Given the description of an element on the screen output the (x, y) to click on. 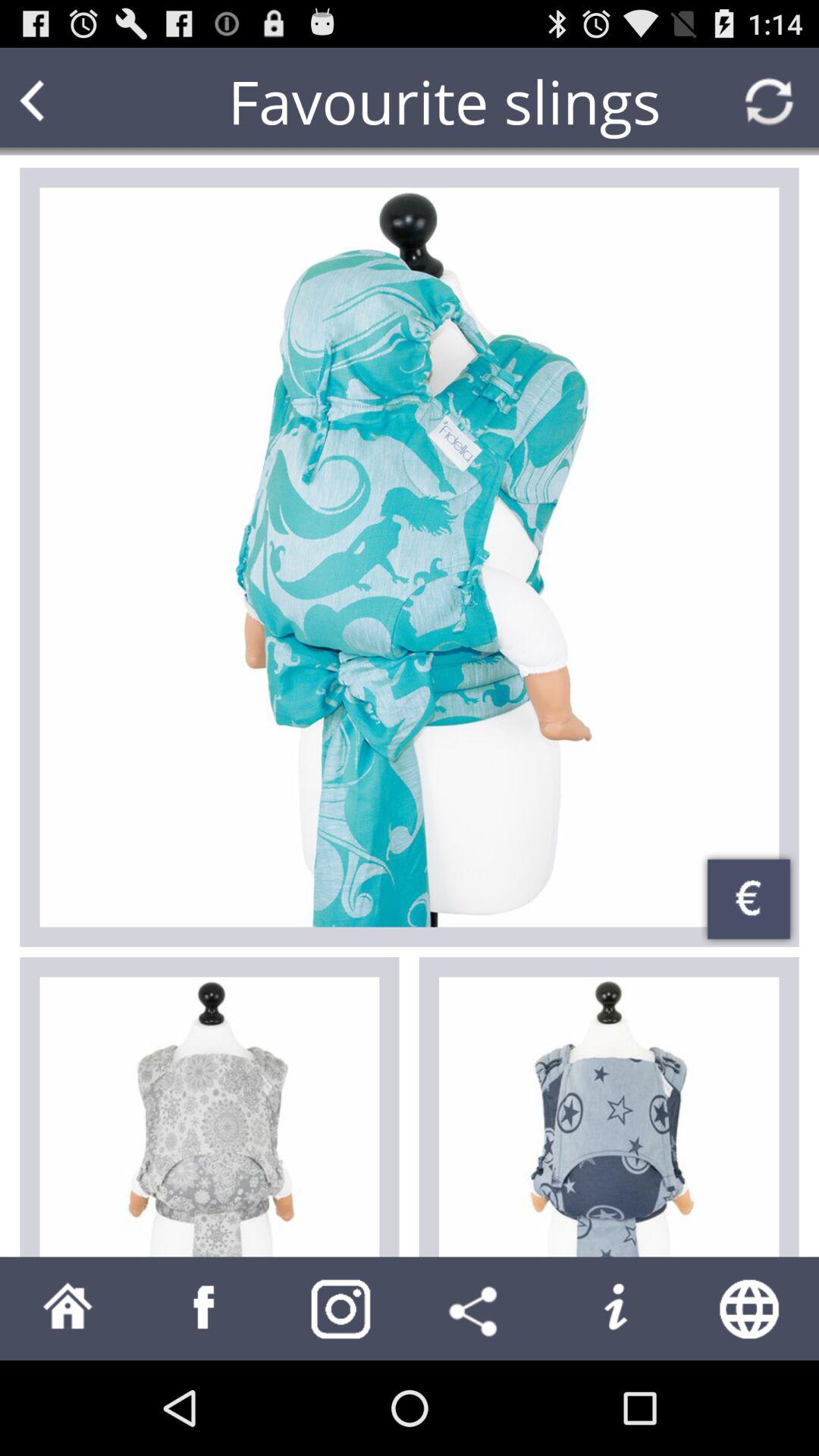
camera (341, 1308)
